Given the description of an element on the screen output the (x, y) to click on. 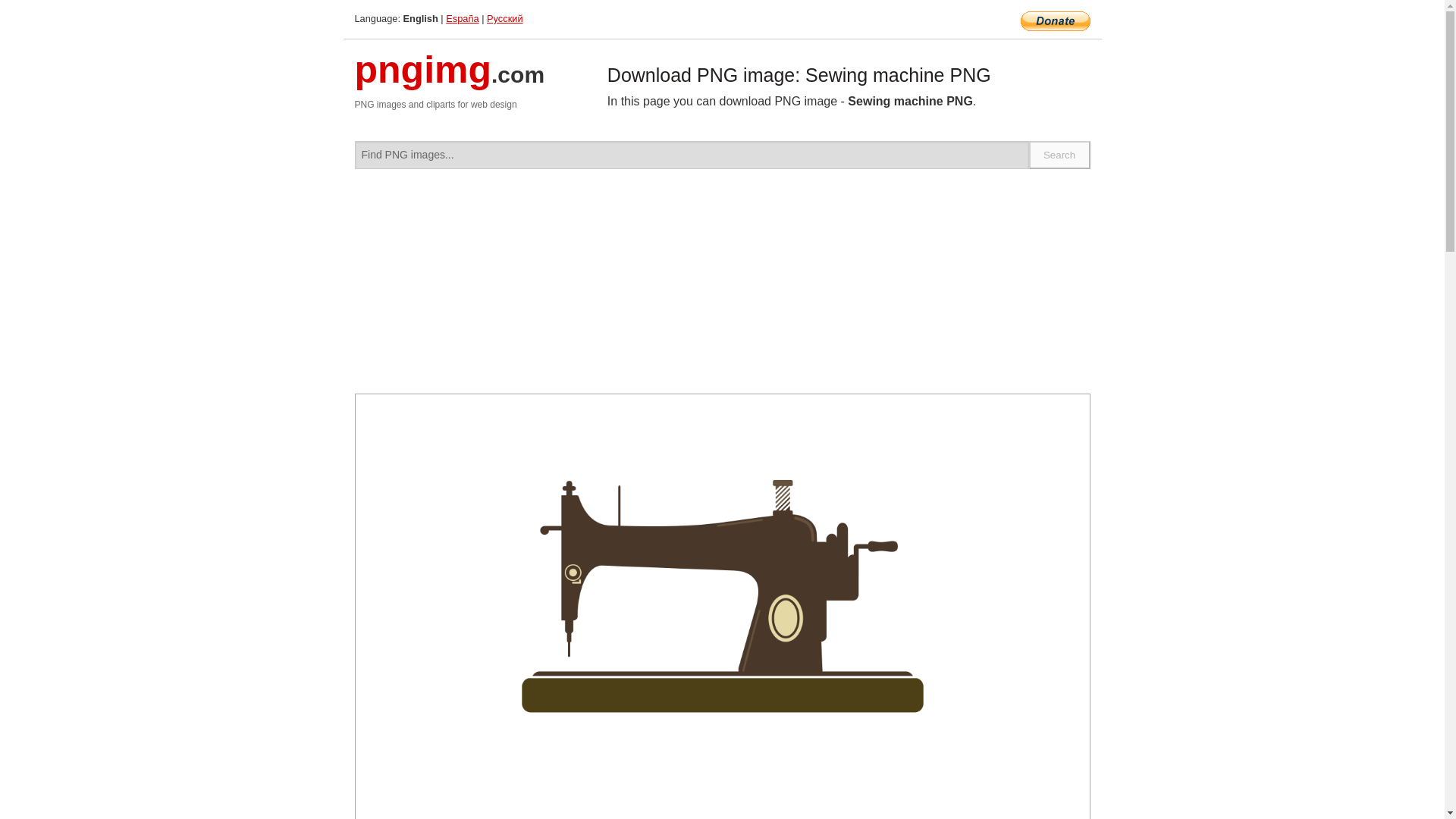
pngimg.com (449, 78)
Search (1059, 154)
Search (1059, 154)
